Given the description of an element on the screen output the (x, y) to click on. 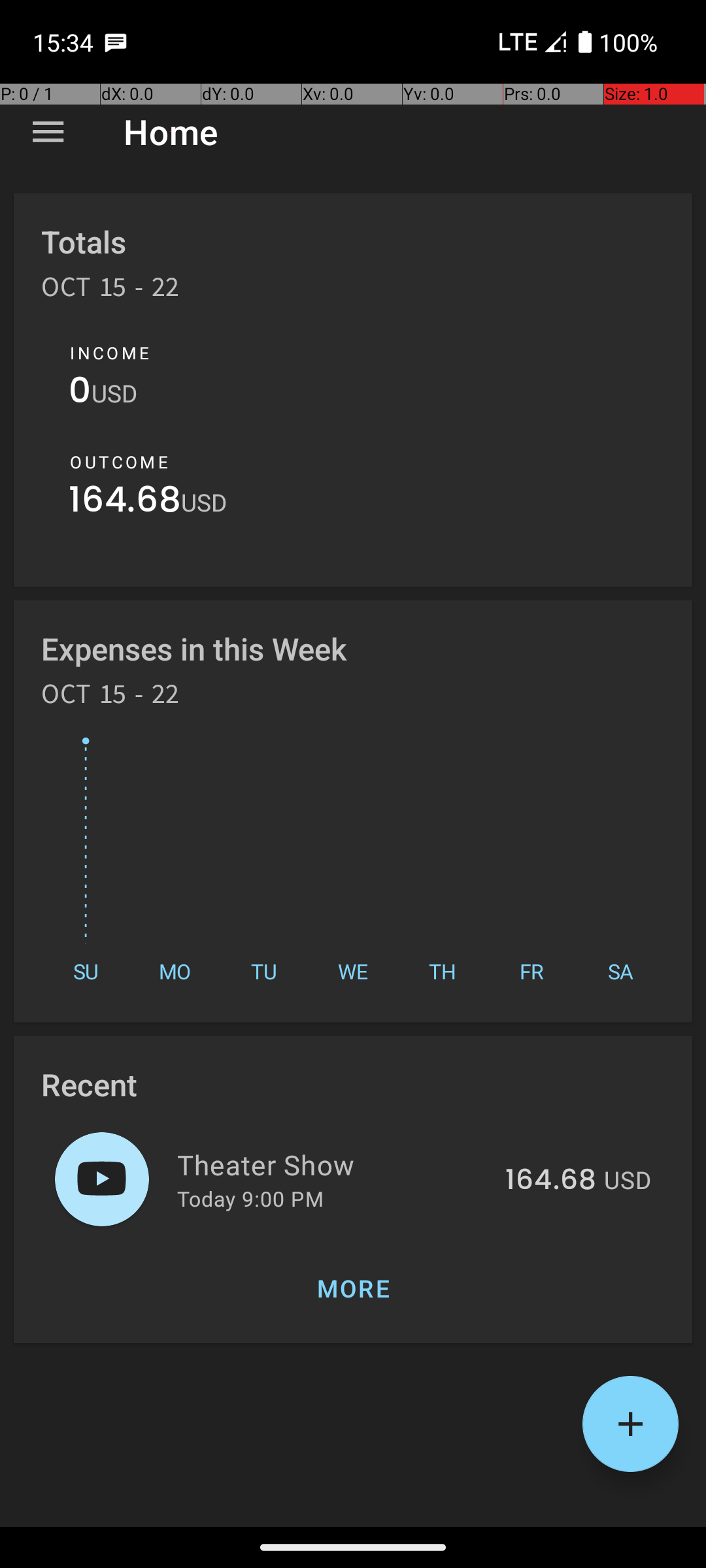
164.68 Element type: android.widget.TextView (124, 502)
Theater Show Element type: android.widget.TextView (333, 1164)
